Given the description of an element on the screen output the (x, y) to click on. 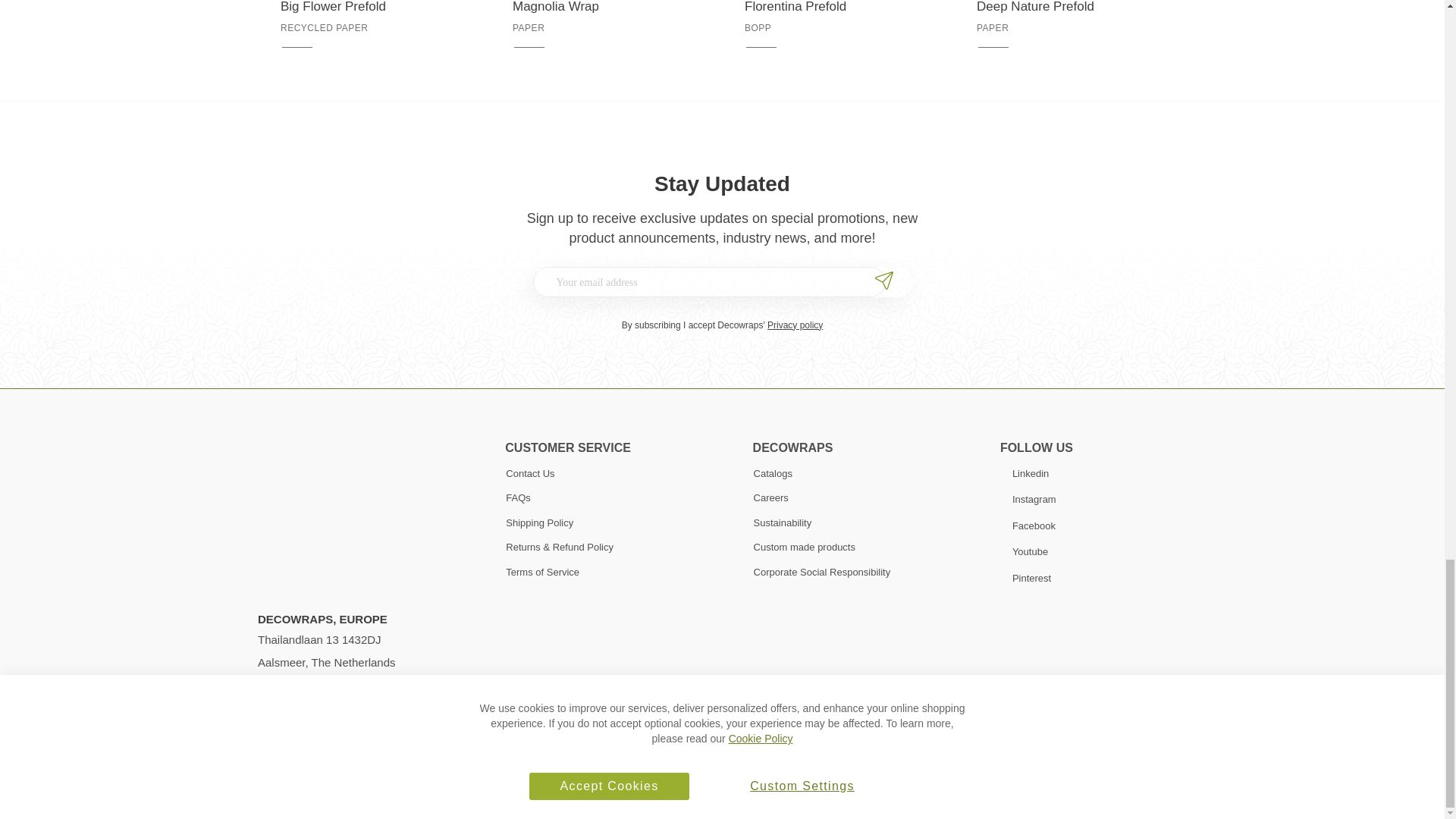
Uzer (730, 773)
Subscribe (885, 281)
Florentina Prefold (837, 7)
Terms and Conditions (306, 773)
Deep Nature Prefold (1069, 7)
Site map (465, 773)
Privacy Policy  (395, 773)
Magnolia Wrap (605, 7)
Big Flower Prefold (374, 7)
